Given the description of an element on the screen output the (x, y) to click on. 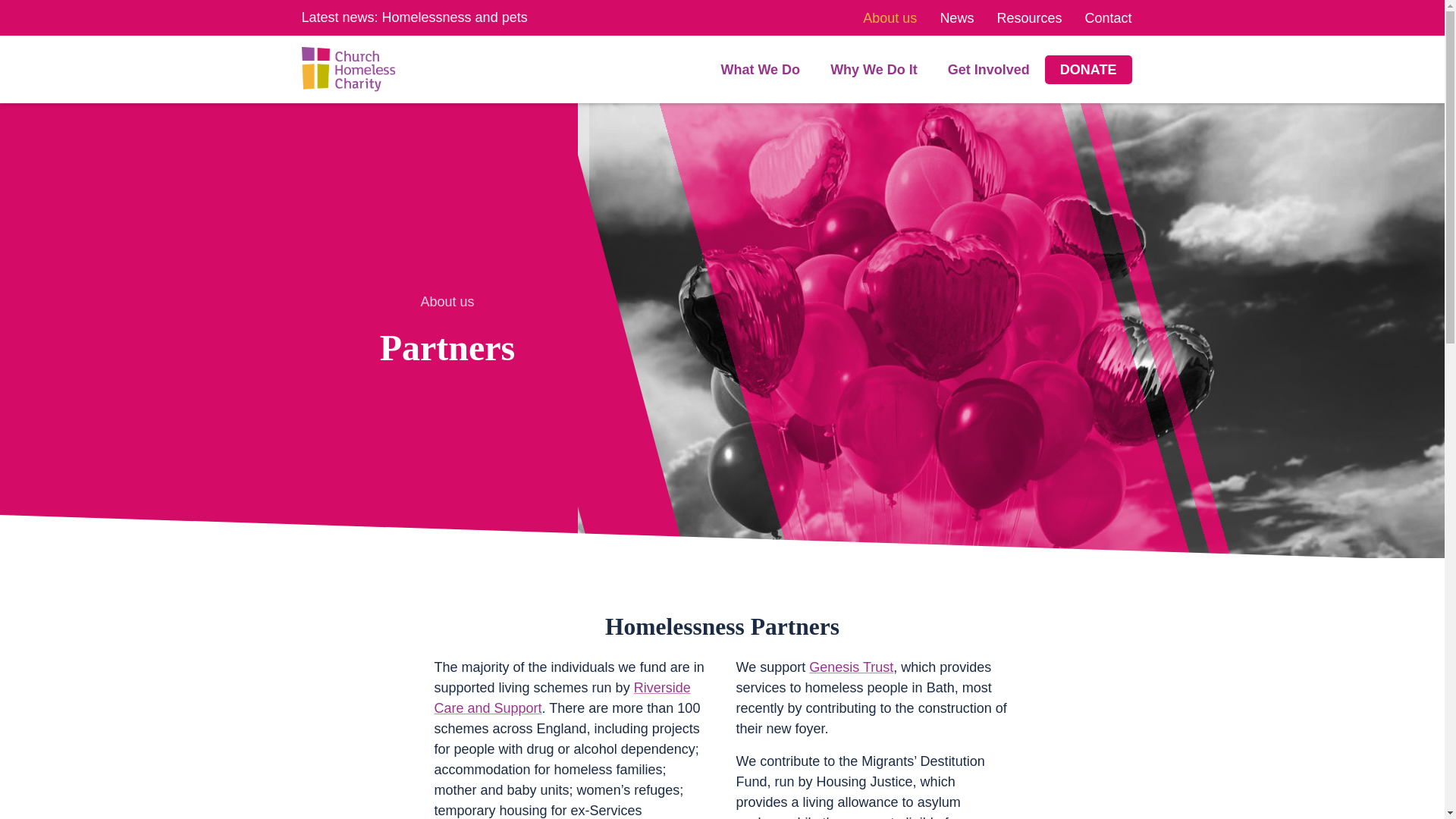
Contact (1107, 18)
What We Do (759, 69)
News (956, 18)
Homelessness and pets (454, 17)
Riverside Care and Support (561, 697)
About us (890, 18)
Resources (1028, 18)
Get Involved (988, 69)
Church Homeless Charity (347, 68)
